Given the description of an element on the screen output the (x, y) to click on. 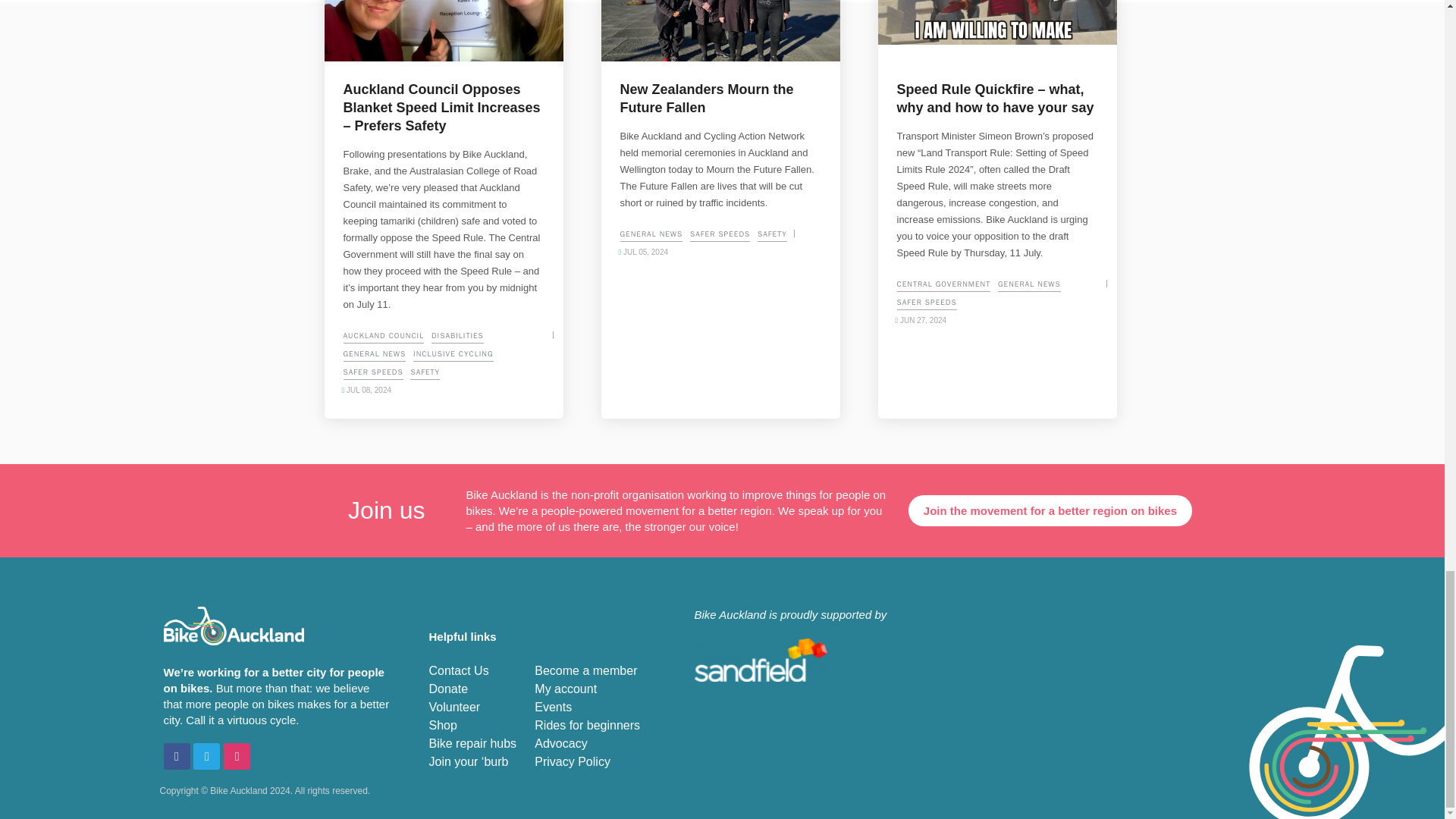
New Zealanders Mourn the Future Fallen (720, 98)
Bike Auckland (233, 625)
New Zealanders Mourn the Future Fallen (719, 30)
